Given the description of an element on the screen output the (x, y) to click on. 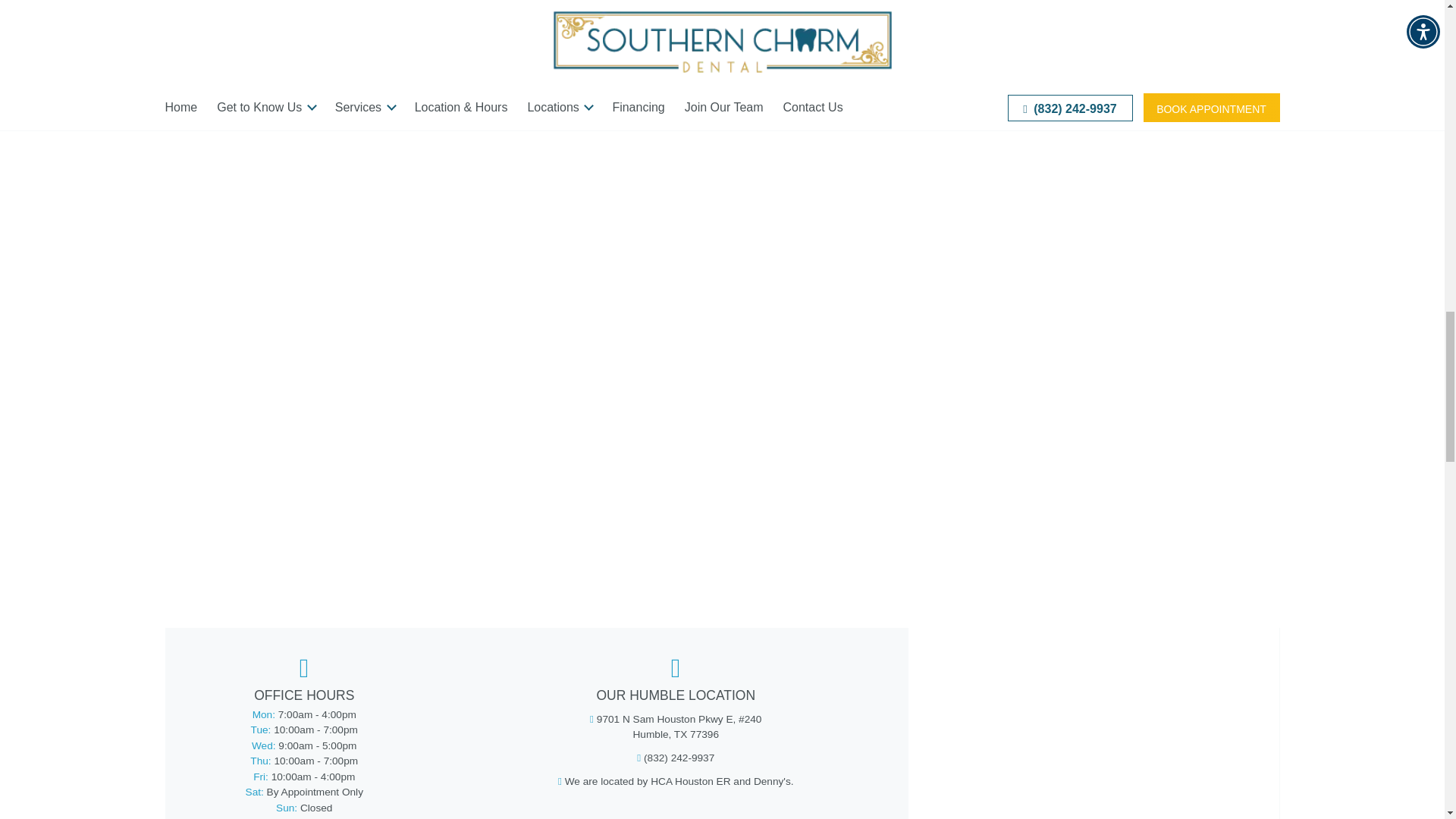
Location Map (1093, 726)
